Given the description of an element on the screen output the (x, y) to click on. 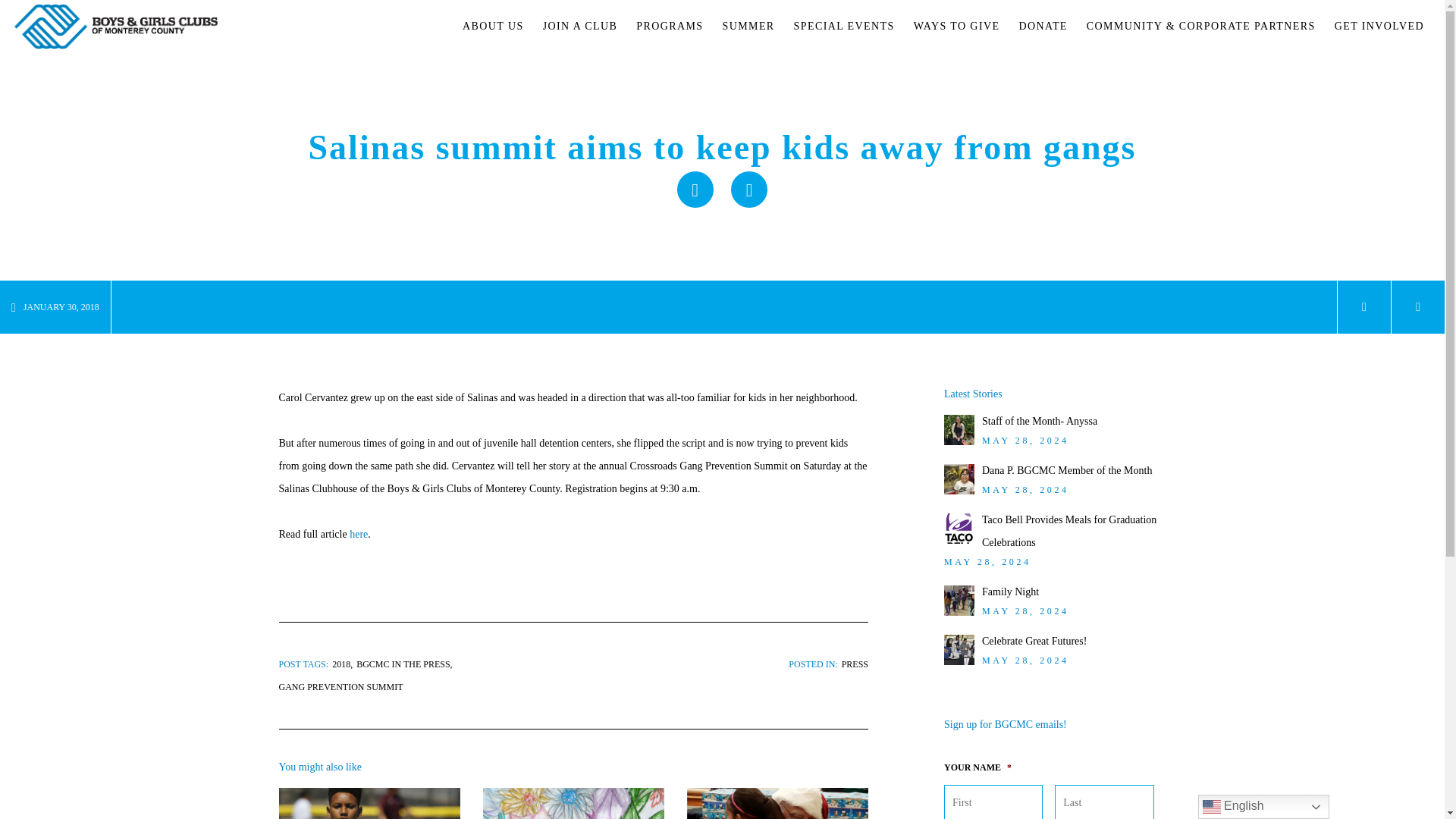
Salinas summit aims to keep kids away from gangs (695, 189)
ABOUT US (492, 26)
Salinas summit aims to keep kids away from gangs (748, 189)
Staff of the Month- Anyssa (1039, 420)
Dana P. BGCMC Member of the Month (1066, 470)
BGCMC (116, 26)
